Given the description of an element on the screen output the (x, y) to click on. 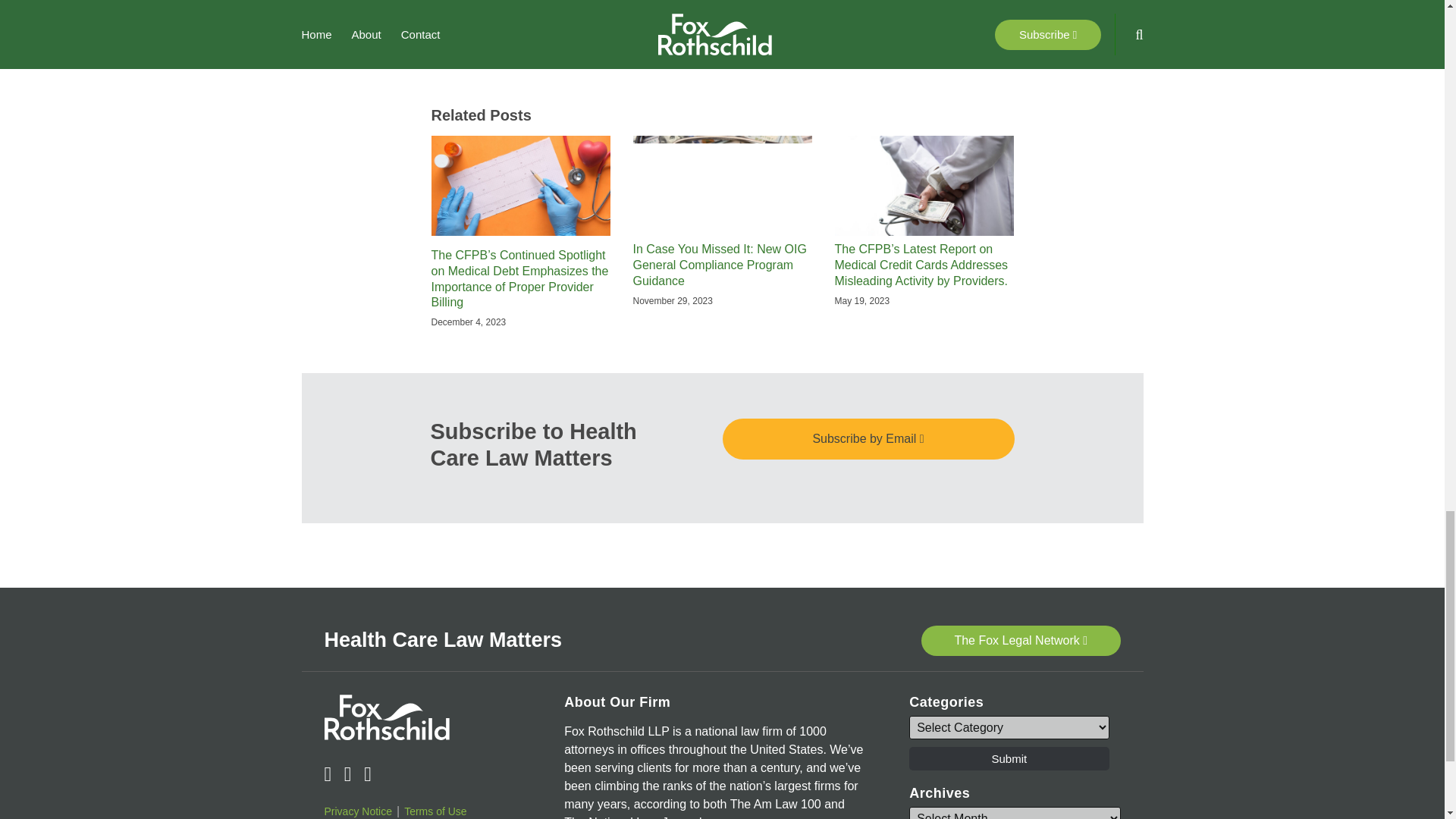
Submit (1008, 758)
